Given the description of an element on the screen output the (x, y) to click on. 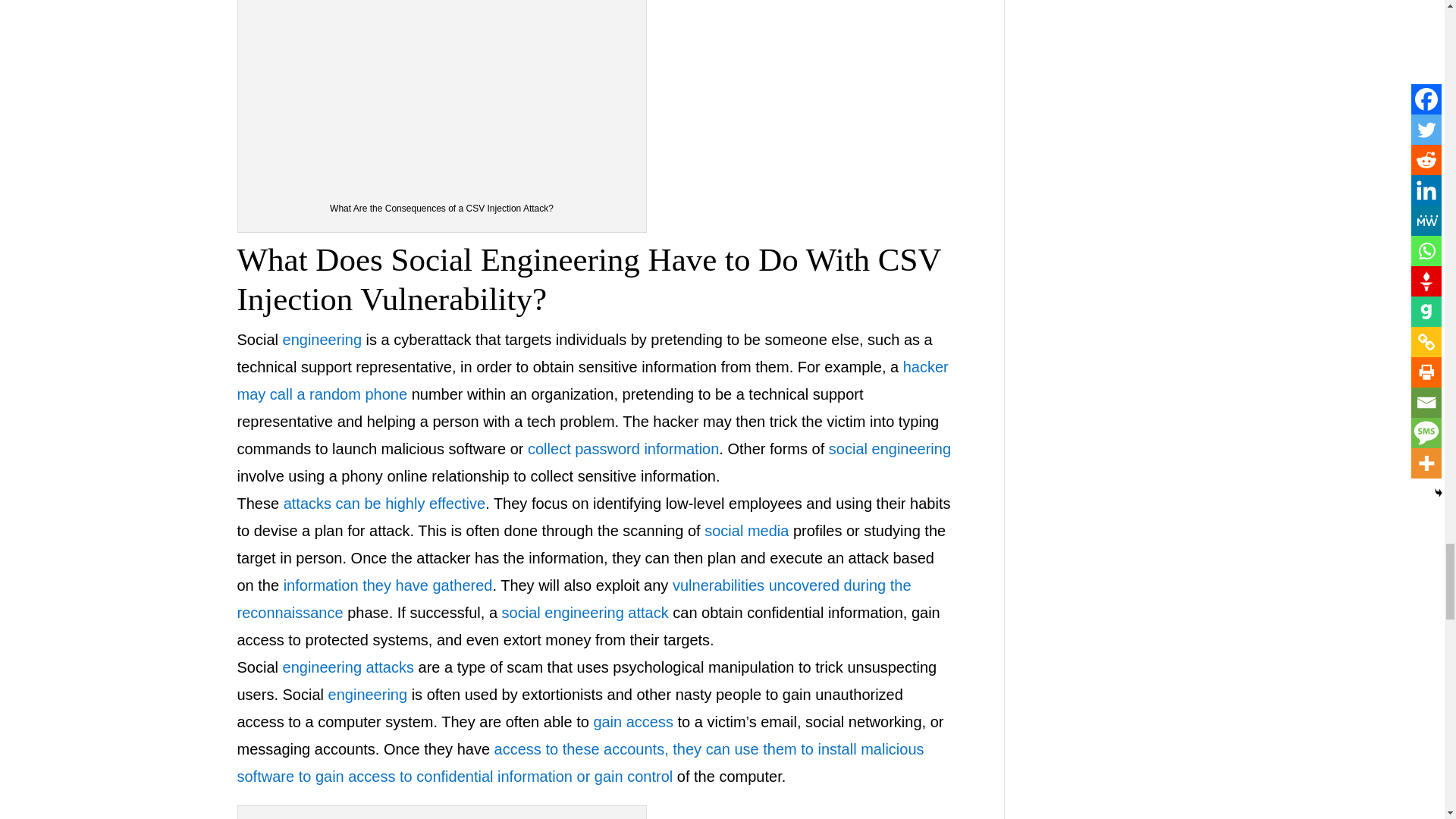
What Are the Consequences of a CSV Injection Attack? (442, 93)
